Given the description of an element on the screen output the (x, y) to click on. 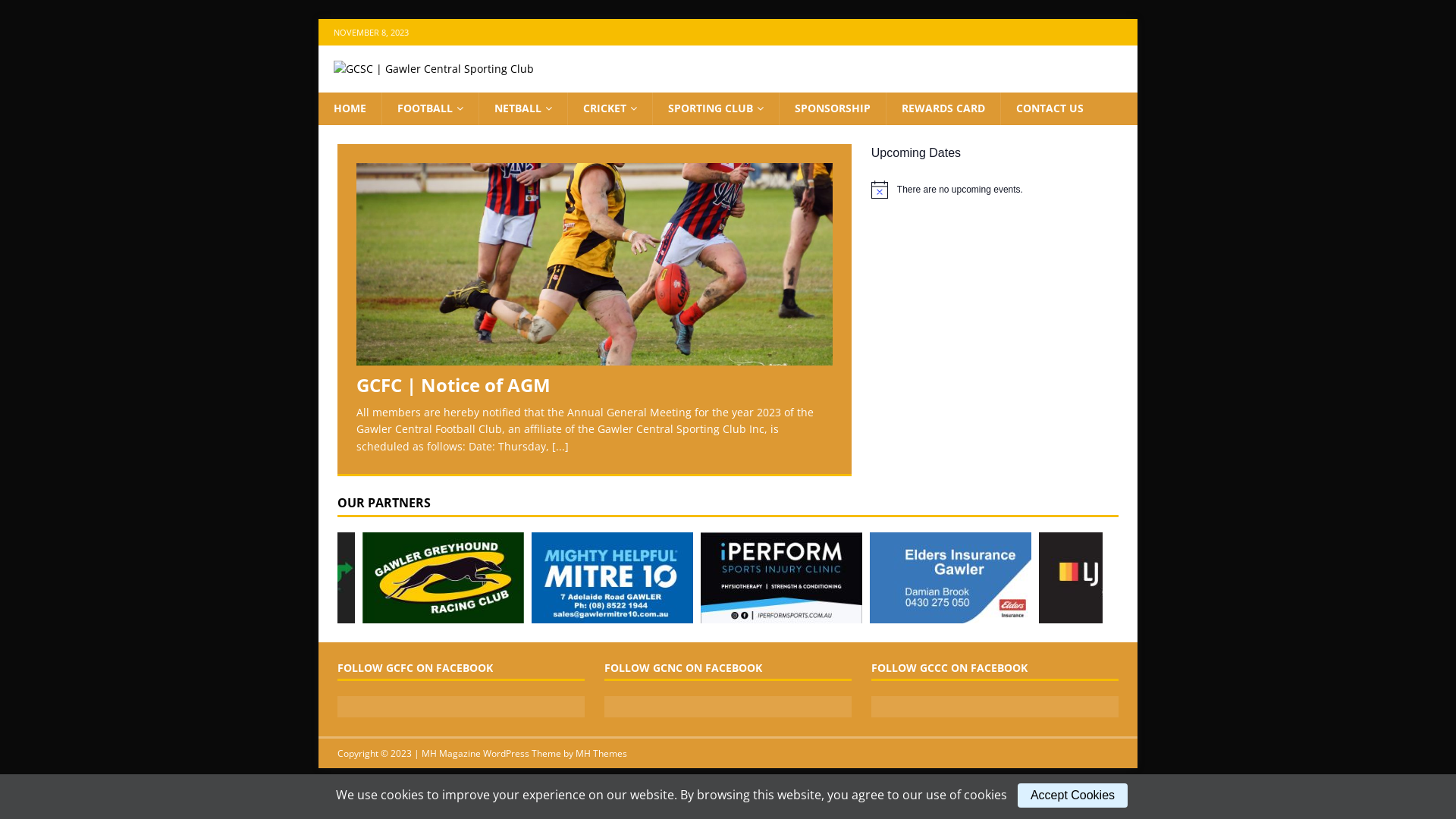
CONTACT US Element type: text (1049, 108)
[...] Element type: text (560, 446)
CRICKET Element type: text (609, 108)
Subway Gawler Green Element type: hover (366, 614)
SPONSORSHIP Element type: text (831, 108)
NETBALL Element type: text (522, 108)
Accept Cookies Element type: text (1072, 795)
GCFC | Notice of AGM Element type: hover (594, 264)
GCFC | Notice of AGM Element type: text (453, 384)
REWARDS CARD Element type: text (942, 108)
MH Themes Element type: text (601, 752)
Elders Insurance Gawler Element type: hover (1037, 614)
Gawler Greyhounds Element type: hover (534, 614)
Mitre10 Gawler Element type: hover (702, 614)
FOOTBALL Element type: text (429, 108)
iPerform Injury Clinic Element type: hover (869, 614)
SPORTING CLUB Element type: text (715, 108)
HOME Element type: text (349, 108)
